Given the description of an element on the screen output the (x, y) to click on. 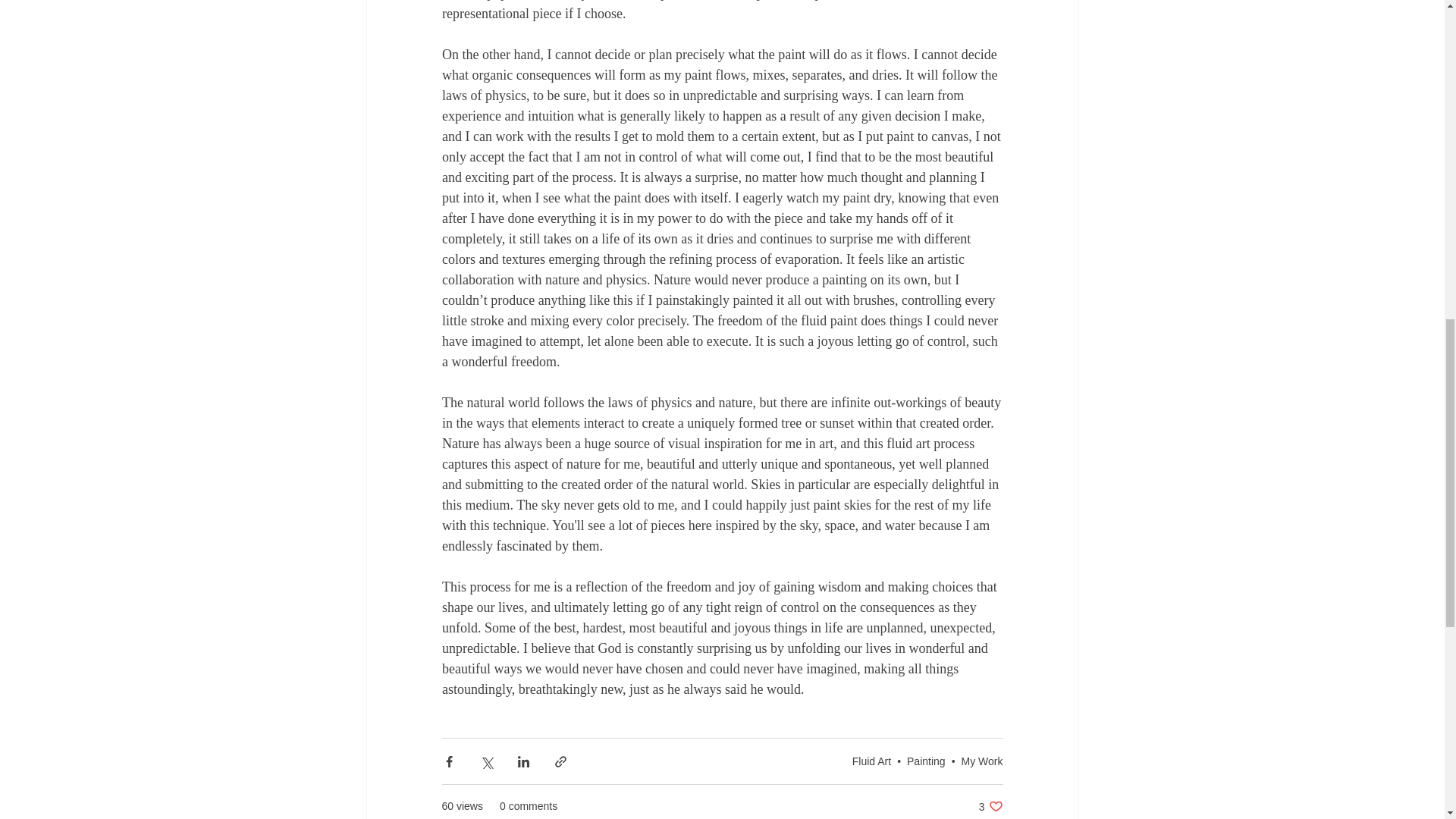
My Work (981, 761)
Fluid Art (871, 761)
Painting (990, 806)
